Given the description of an element on the screen output the (x, y) to click on. 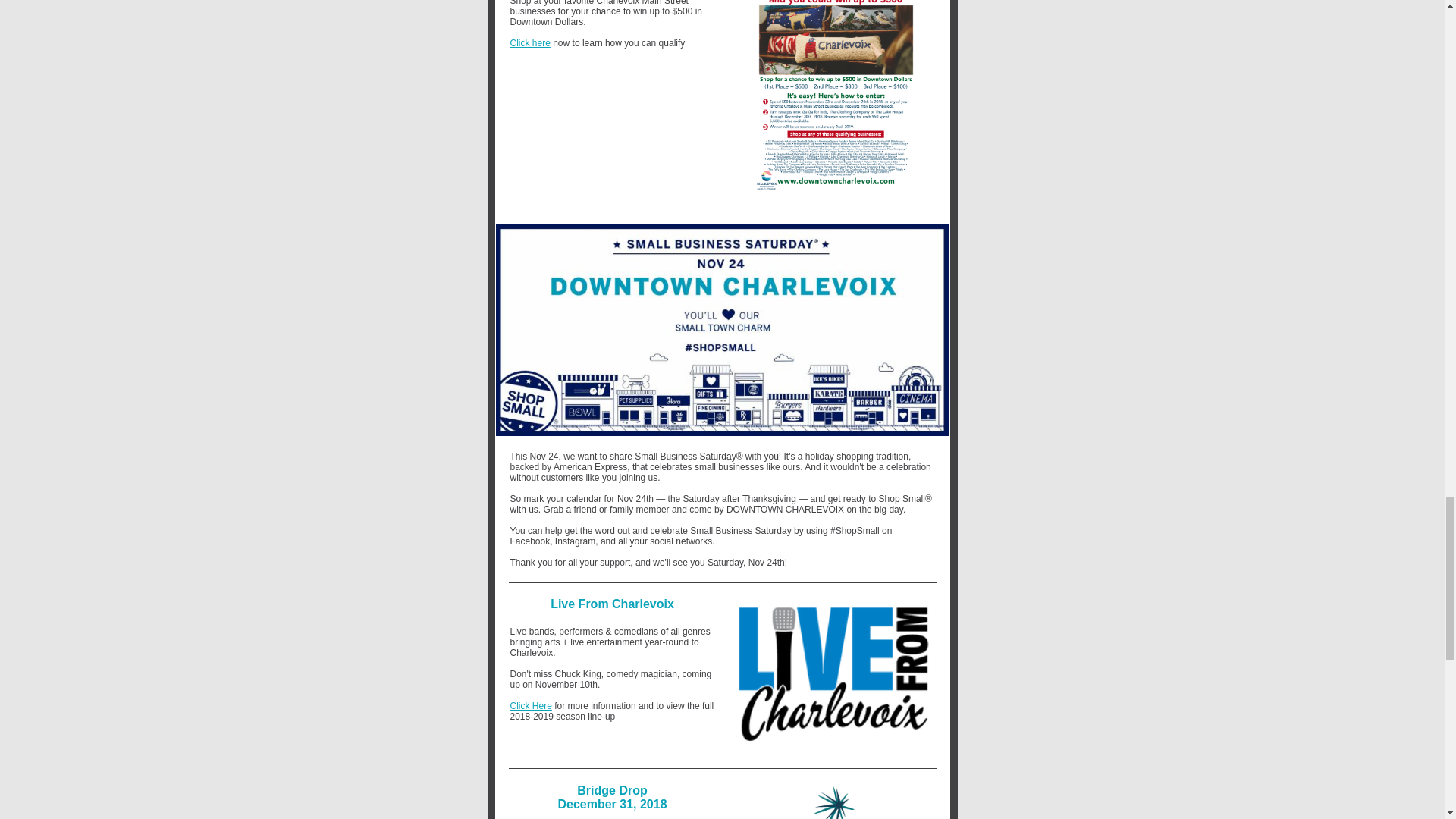
Click Here (530, 706)
Click here (529, 42)
